Given the description of an element on the screen output the (x, y) to click on. 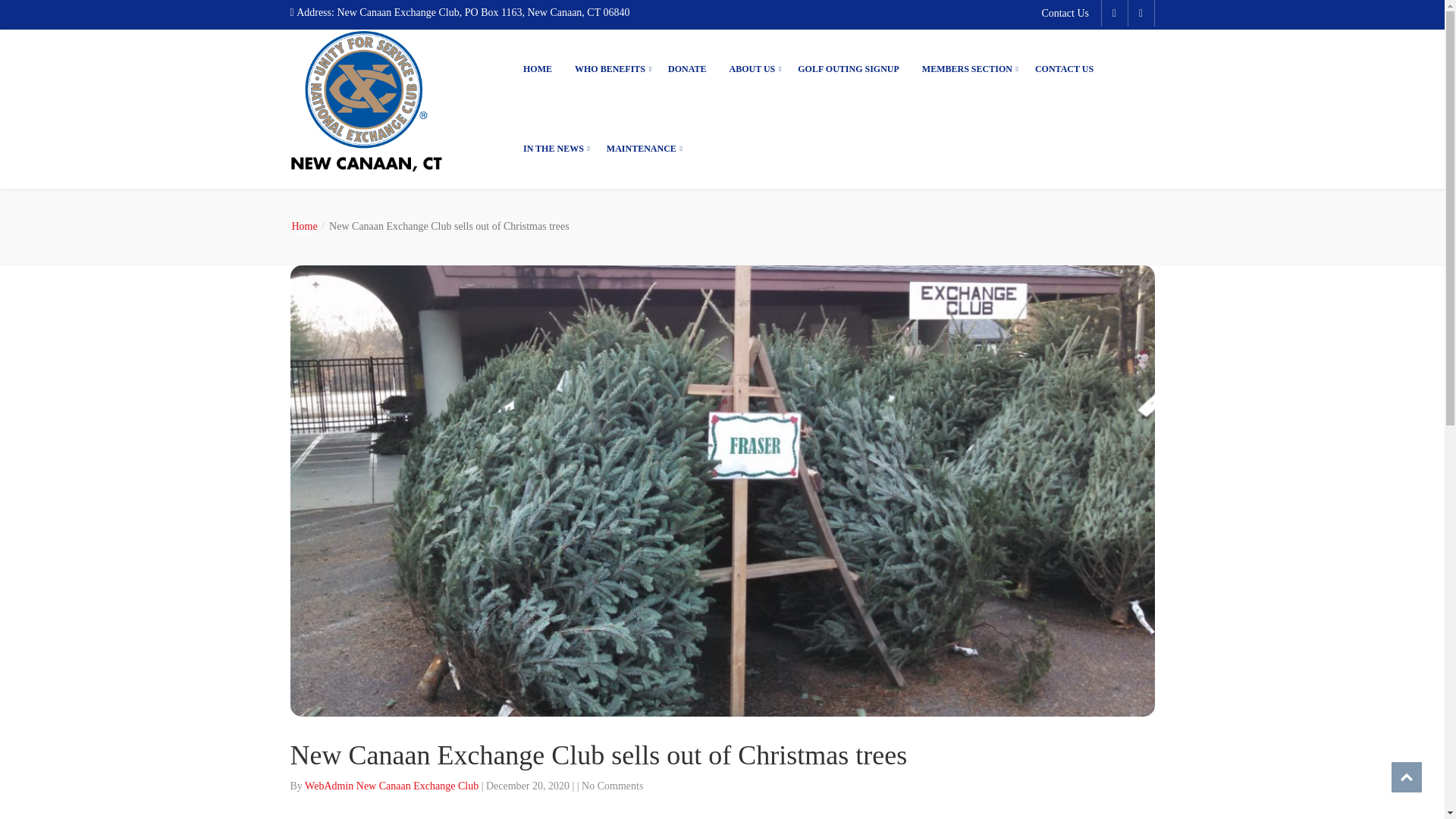
WebAdmin New Canaan Exchange Club (392, 785)
Contact Us (1069, 13)
Home (307, 225)
GOLF OUTING SIGNUP (848, 68)
MAINTENANCE (641, 148)
WHO BENEFITS (609, 68)
CONTACT US (1064, 68)
MEMBERS SECTION (967, 68)
IN THE NEWS (553, 148)
